Given the description of an element on the screen output the (x, y) to click on. 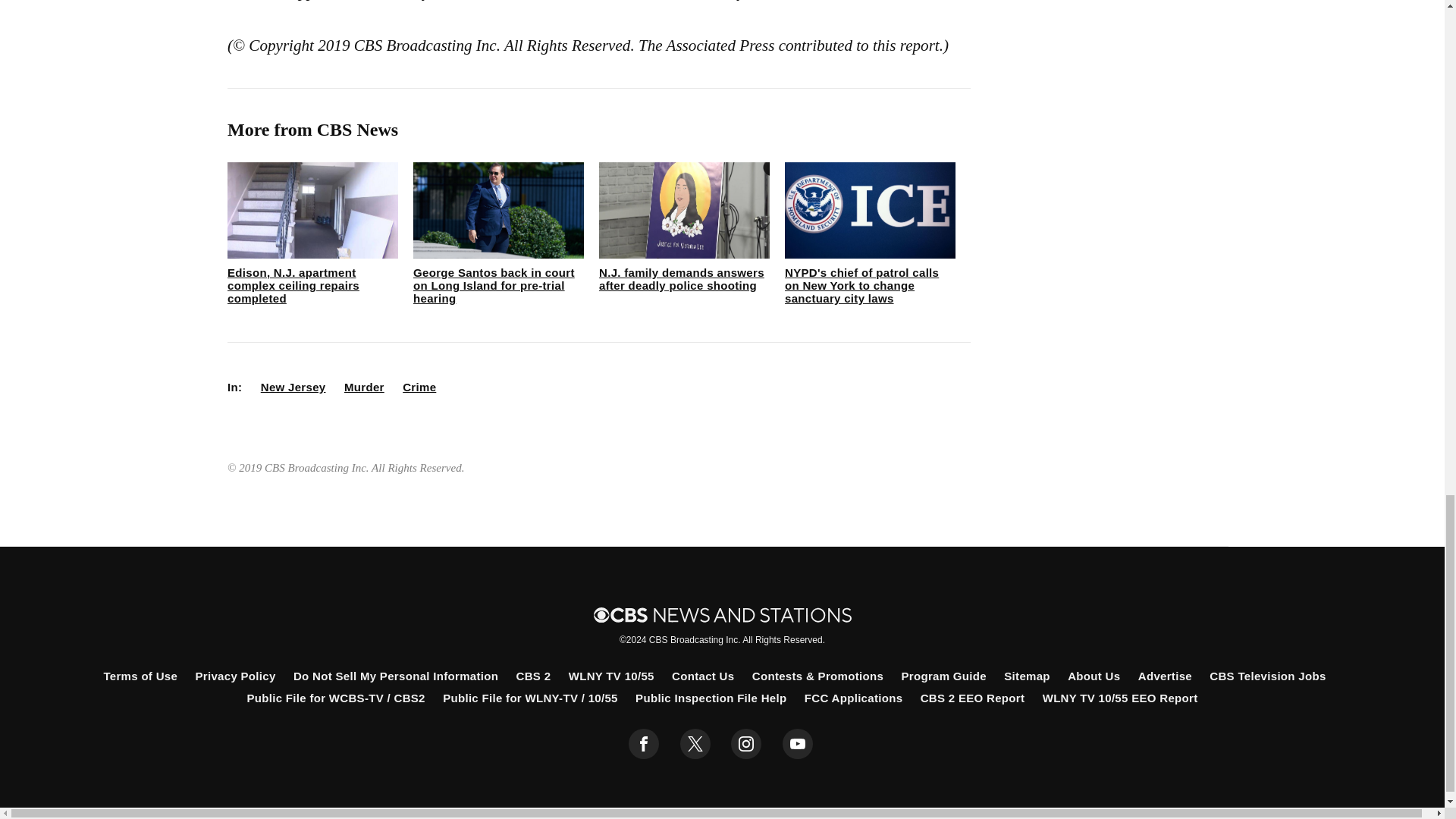
twitter (694, 743)
instagram (745, 743)
facebook (643, 743)
youtube (797, 743)
